Given the description of an element on the screen output the (x, y) to click on. 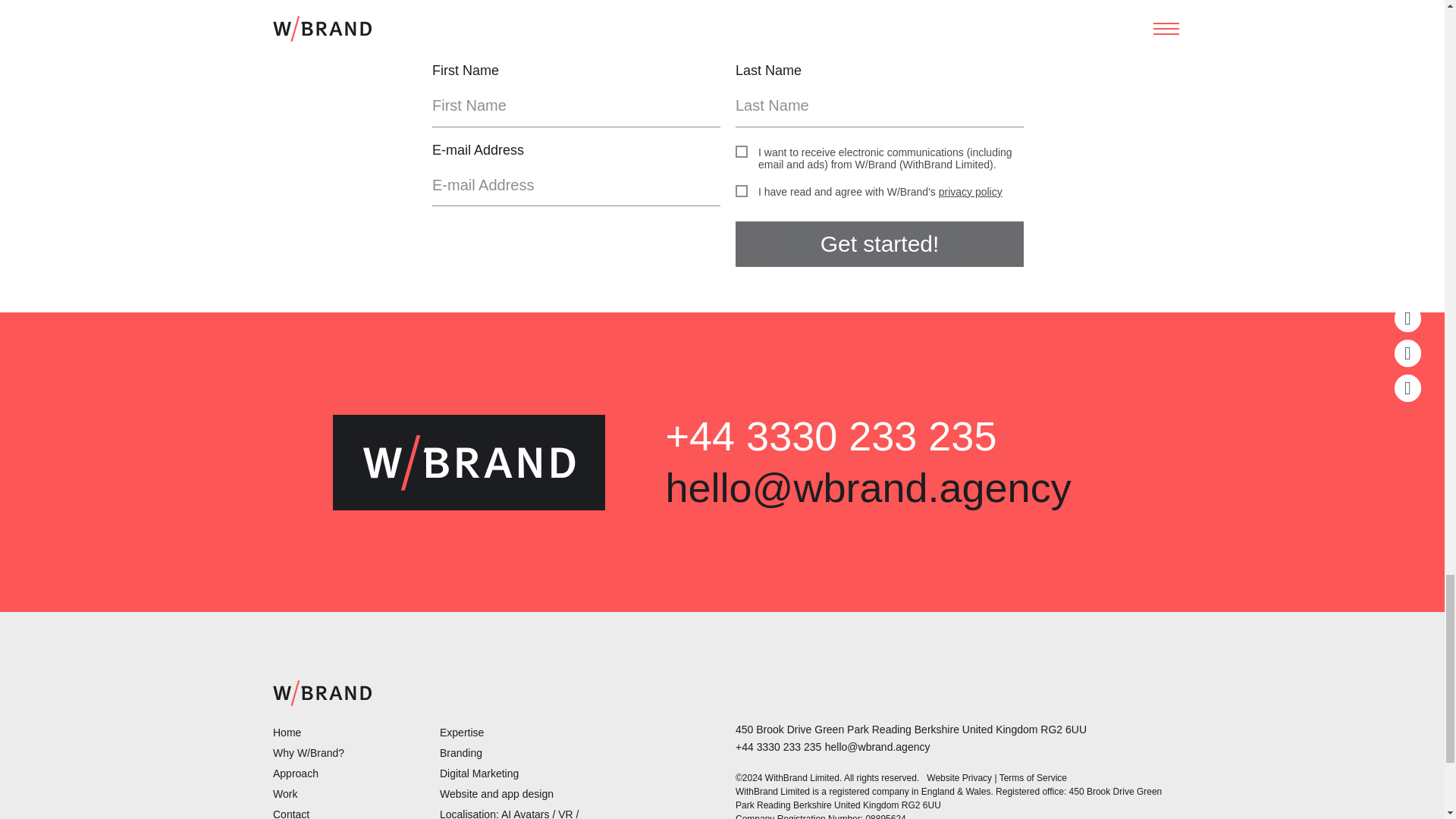
Get started! (879, 243)
privacy policy (971, 191)
